Given the description of an element on the screen output the (x, y) to click on. 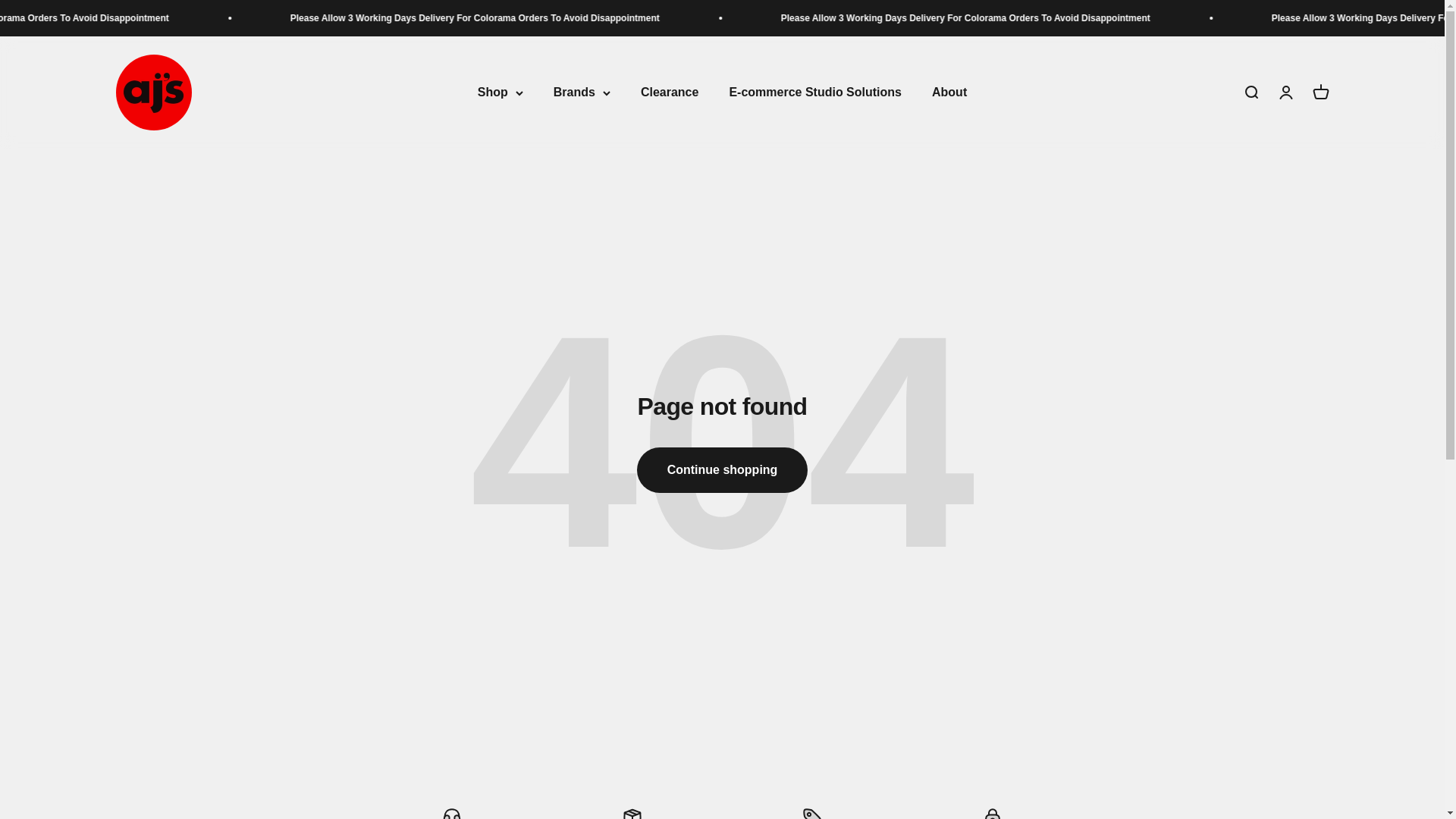
Clearance (669, 92)
About (948, 92)
Shop (499, 93)
AJ's Photo Video Limited (152, 92)
E-commerce Studio Solutions (815, 92)
